Given the description of an element on the screen output the (x, y) to click on. 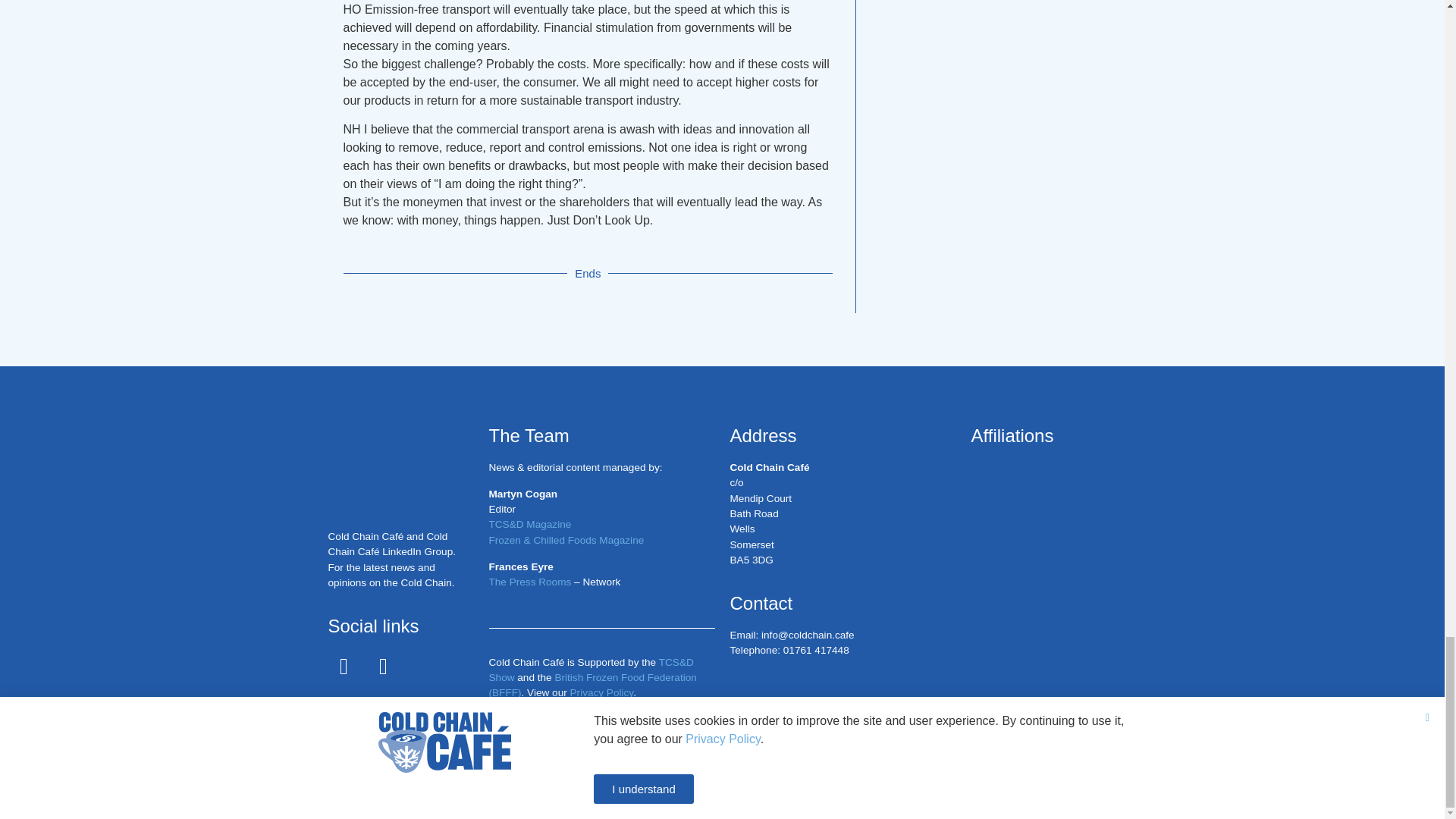
Privacy Policy (601, 692)
The Press Rooms (528, 582)
